Given the description of an element on the screen output the (x, y) to click on. 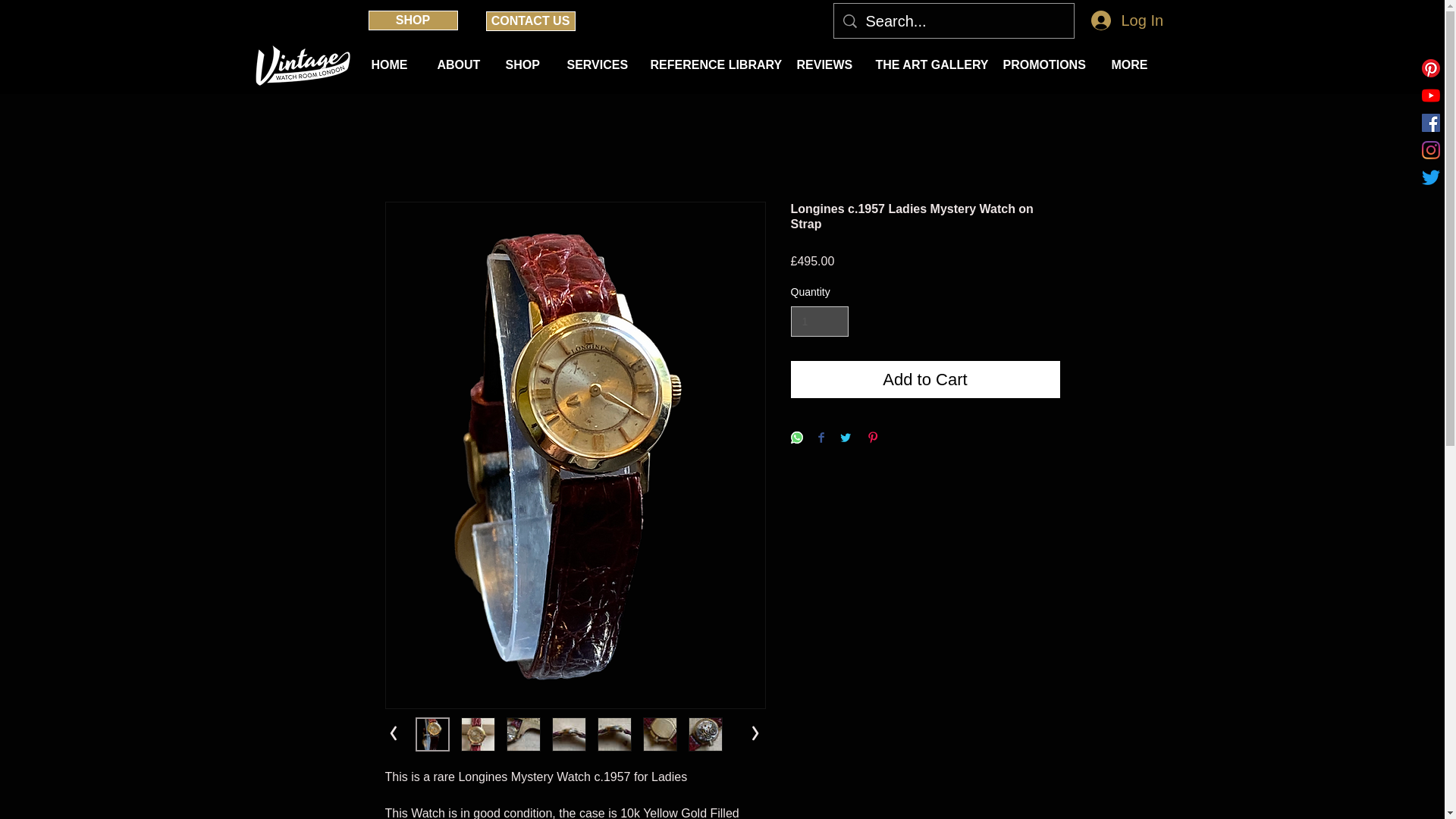
REFERENCE LIBRARY (711, 65)
HOME (392, 65)
vintagewatchroom - logos - pentagon-09-09.png (299, 65)
THE ART GALLERY (927, 65)
1 (818, 321)
ABOUT (460, 65)
Log In (1124, 20)
SERVICES (596, 65)
PROMOTIONS (1045, 65)
SHOP (413, 20)
REVIEWS (825, 65)
CONTACT US (529, 21)
